Given the description of an element on the screen output the (x, y) to click on. 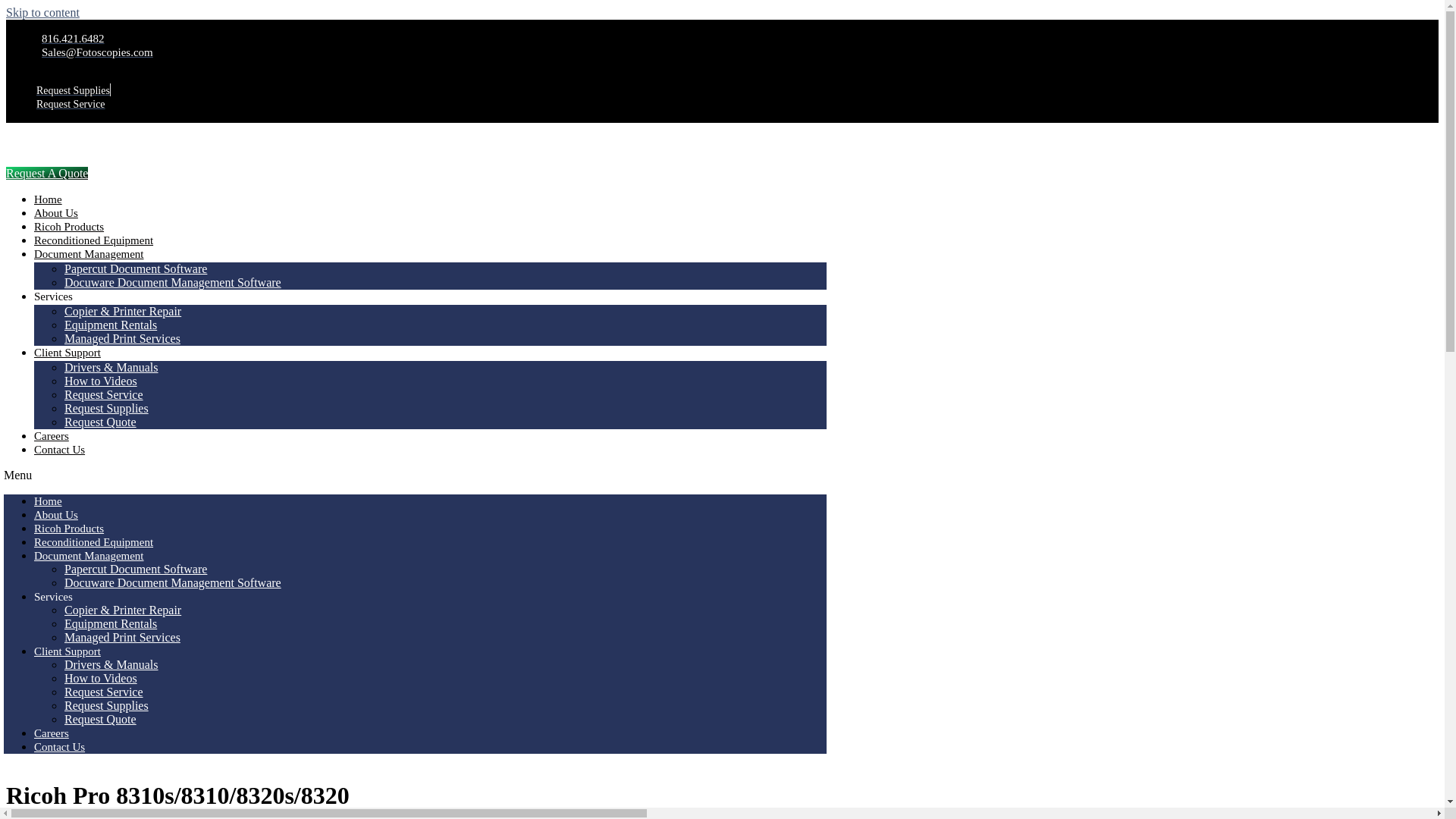
Reconditioned Equipment (92, 542)
Managed Print Services (122, 637)
Ricoh Products (68, 226)
Equipment Rentals (110, 623)
Papercut Document Software (135, 268)
Request Service (70, 103)
816.421.6482 (70, 38)
How to Videos (100, 678)
Papercut Document Software (135, 568)
Request Service (103, 394)
